Given the description of an element on the screen output the (x, y) to click on. 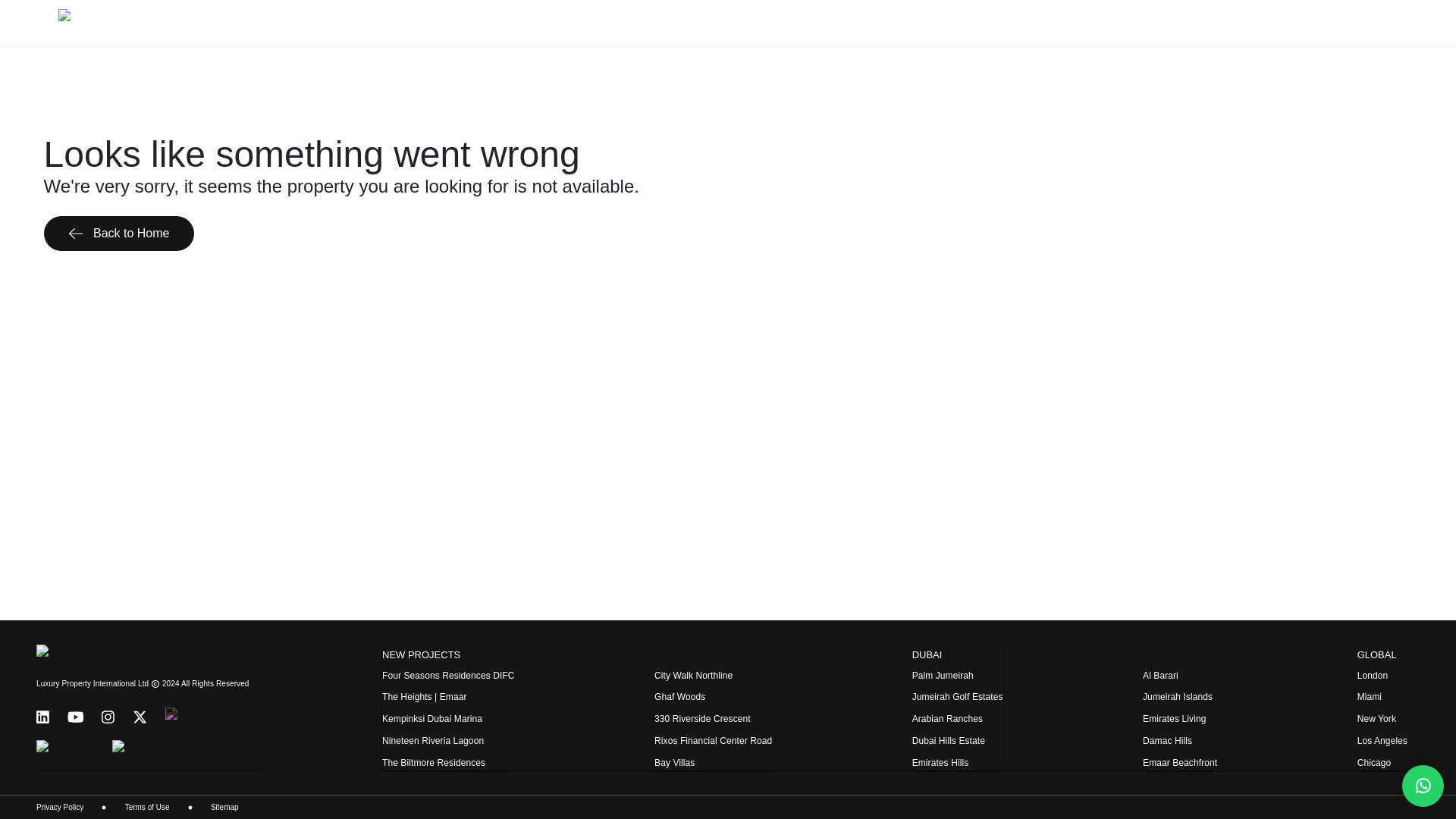
London (1372, 676)
Arabian Ranches (947, 718)
The Biltmore Residences (432, 762)
Jumeirah Golf Estates (957, 697)
Al Barari (1159, 676)
Emirates Living (1173, 718)
Back to Home (119, 233)
Sitemap (224, 807)
Chicago (1373, 762)
City Walk Northline (692, 676)
Palm Jumeirah (943, 676)
Privacy Policy (59, 807)
Dubai Hills Estate (948, 740)
Miami (1368, 697)
Bay Villas (673, 762)
